Given the description of an element on the screen output the (x, y) to click on. 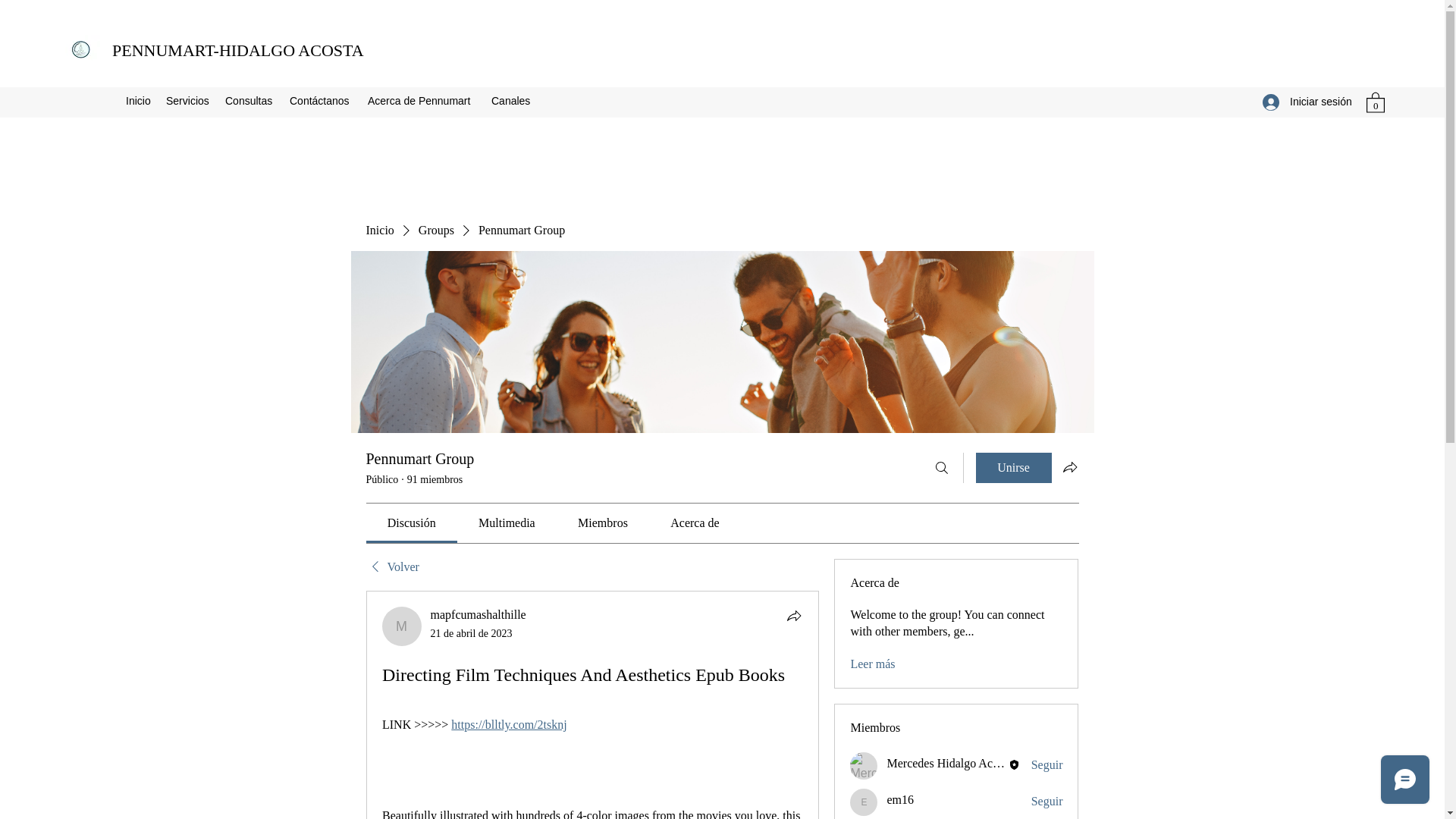
Inicio (379, 230)
Seguir (1046, 801)
Servicios (187, 100)
Canales (510, 100)
Seguir (1046, 764)
Mercedes Hidalgo Acosta (863, 765)
Mercedes Hidalgo Acosta (948, 762)
em16 (900, 799)
mapfcumashalthille (401, 626)
em16 (863, 801)
Inicio (137, 100)
Unirse (1013, 467)
Groups (436, 230)
Consultas (249, 100)
21 de abril de 2023 (471, 633)
